Given the description of an element on the screen output the (x, y) to click on. 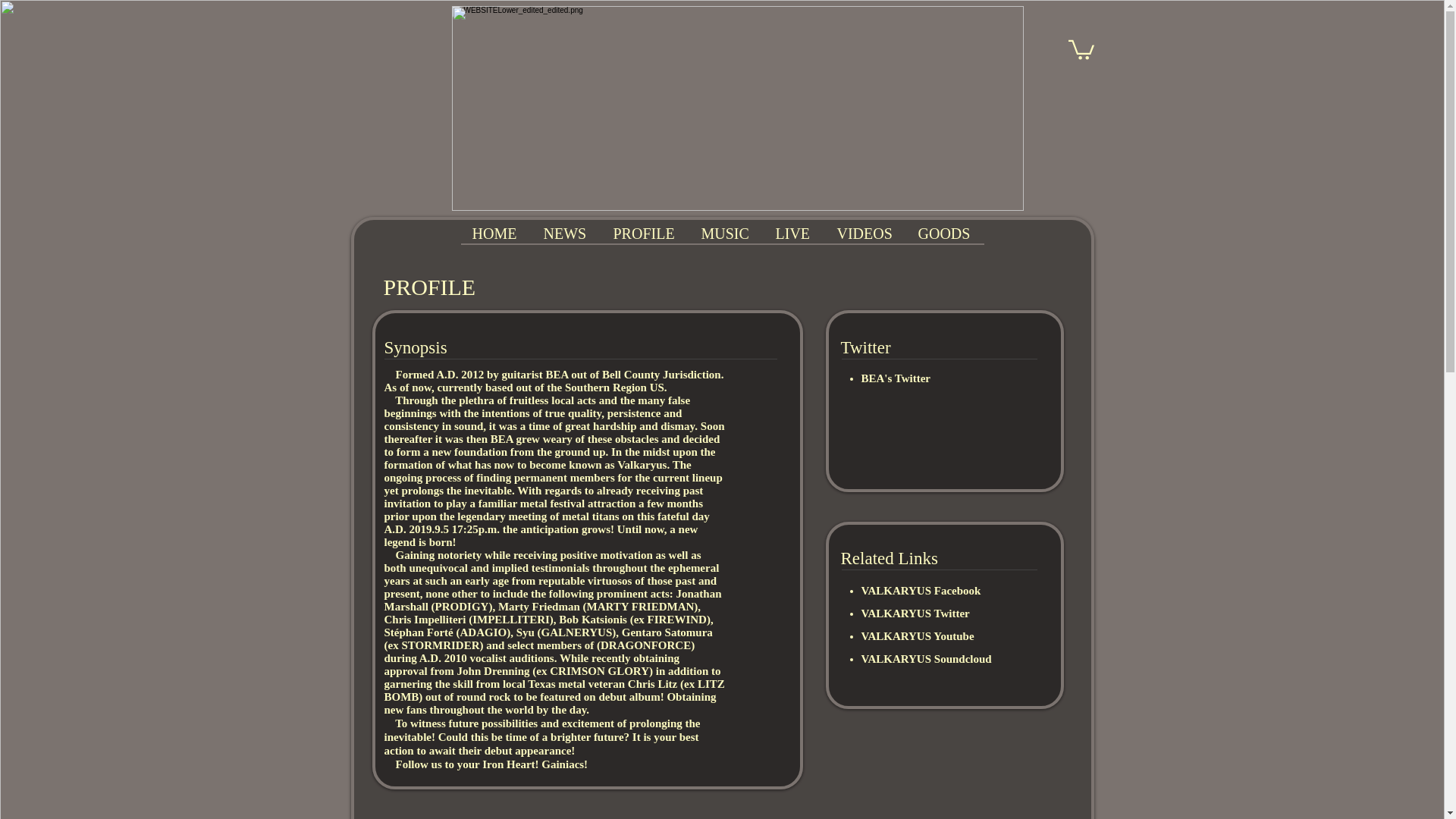
VALKARYUS Soundcloud (926, 658)
VIDEOS (865, 233)
NEWS (565, 233)
HOME (496, 233)
VALKARYUS Twitter (915, 613)
GOODS (944, 233)
BEA's Twitter (896, 378)
PROFILE (643, 233)
MUSIC (725, 233)
Web Page 3.png (737, 107)
VALKARYUS Facebook (921, 590)
LIVE (793, 233)
VALKARYUS Youtube (917, 635)
